Given the description of an element on the screen output the (x, y) to click on. 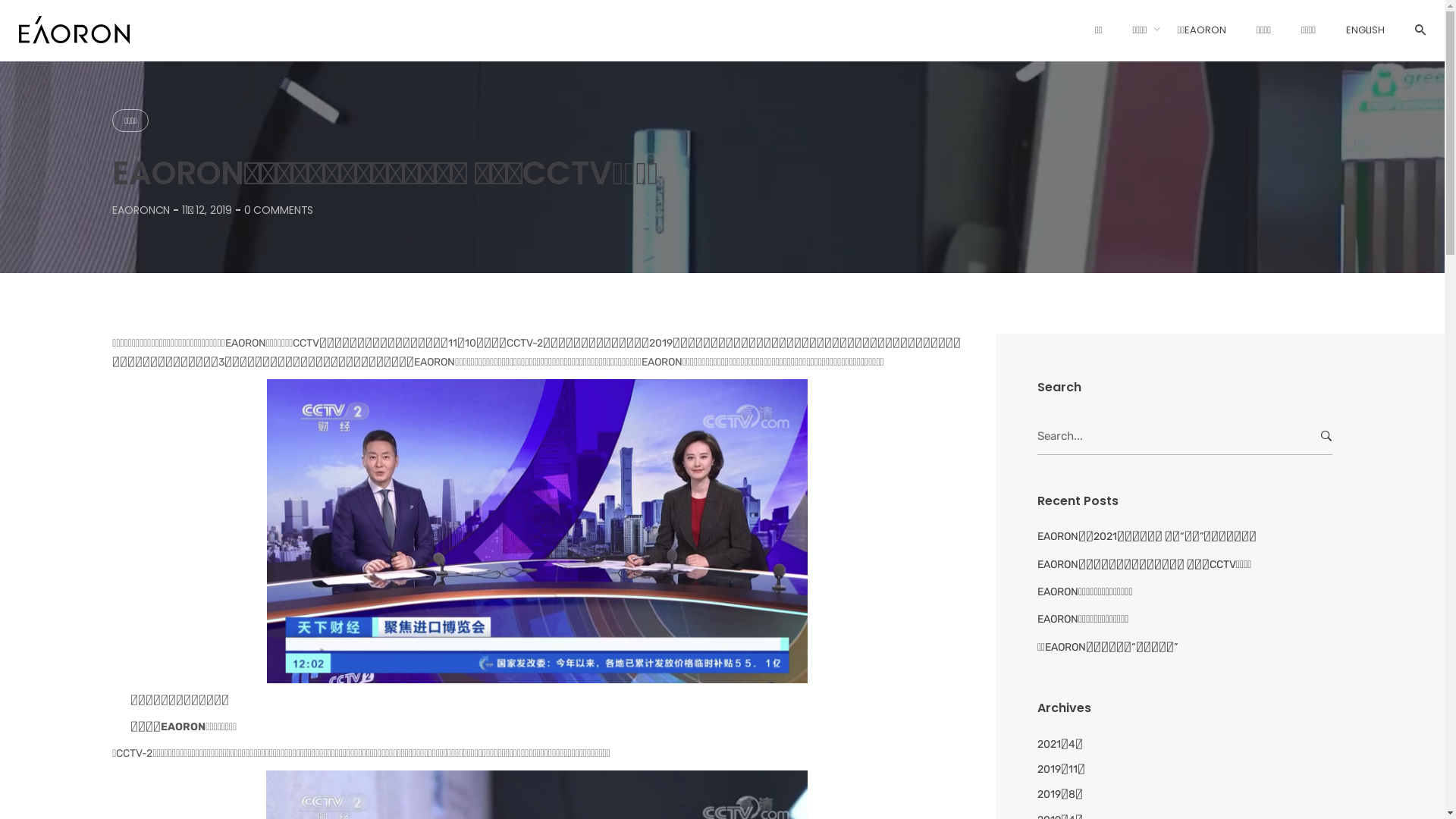
ENGLISH Element type: text (1364, 29)
ENGLISH Element type: text (756, 706)
Skip to content Element type: text (0, 0)
EAORON Element type: text (764, 605)
